Given the description of an element on the screen output the (x, y) to click on. 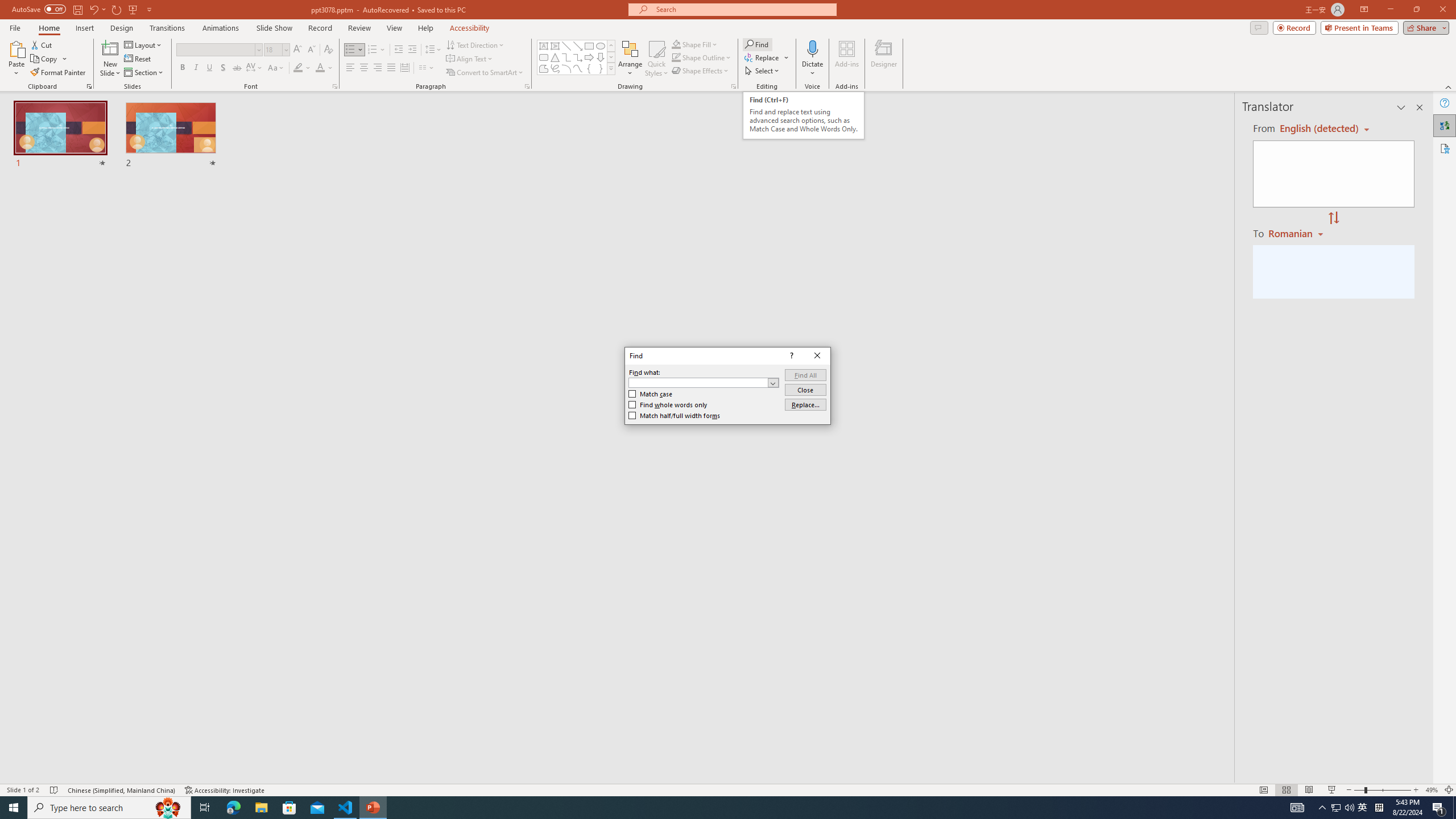
Zoom 49% (1431, 790)
